Given the description of an element on the screen output the (x, y) to click on. 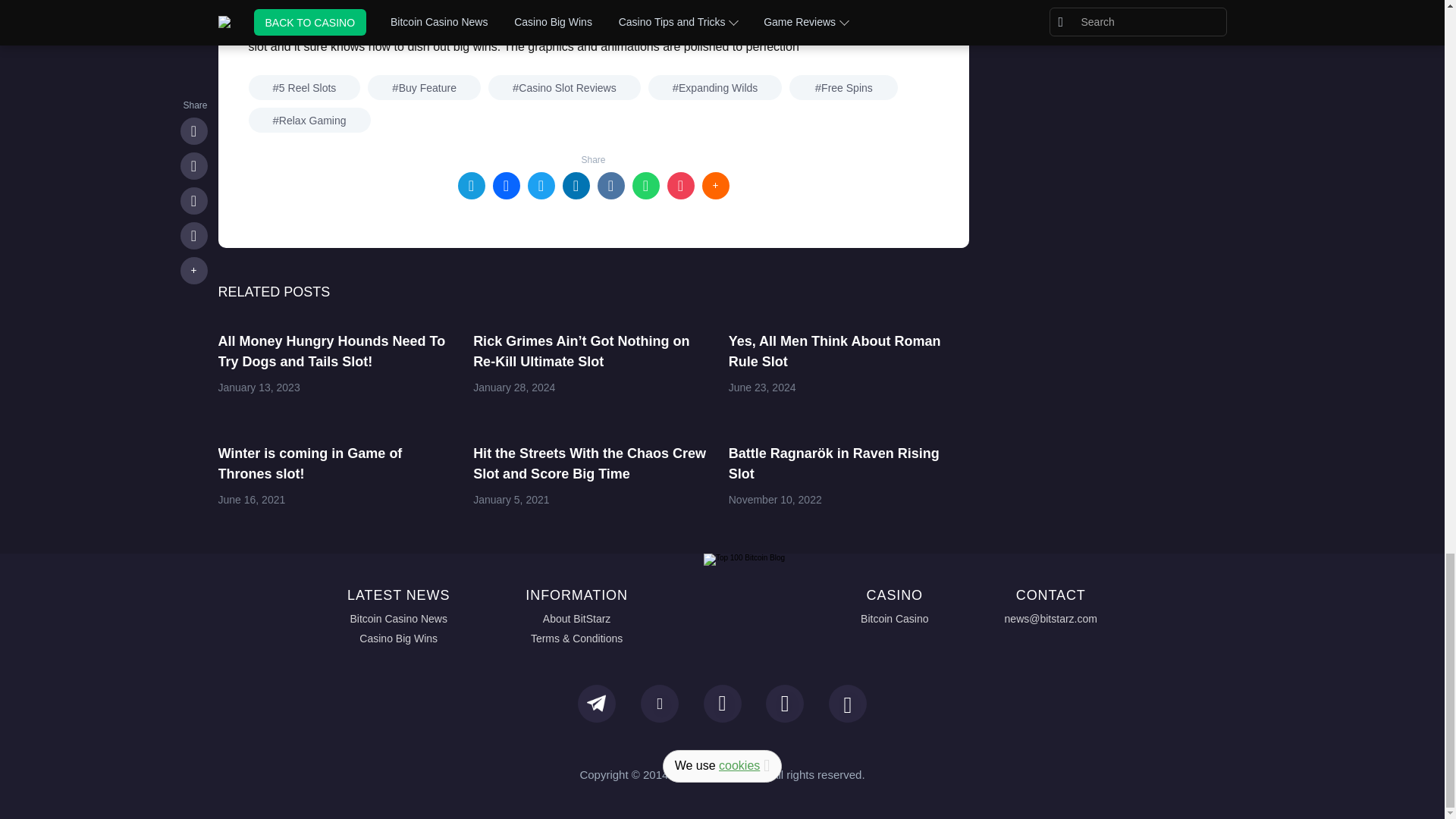
Buy Feature (424, 87)
Share this on Facebook (506, 185)
5 Reel Slots (304, 87)
More share links (715, 185)
Submit this to Pocket (680, 185)
Casino Slot Reviews (563, 87)
WhatsApp (645, 185)
Add this to LinkedIn (575, 185)
Free Spins (843, 87)
Telegram (471, 185)
